Given the description of an element on the screen output the (x, y) to click on. 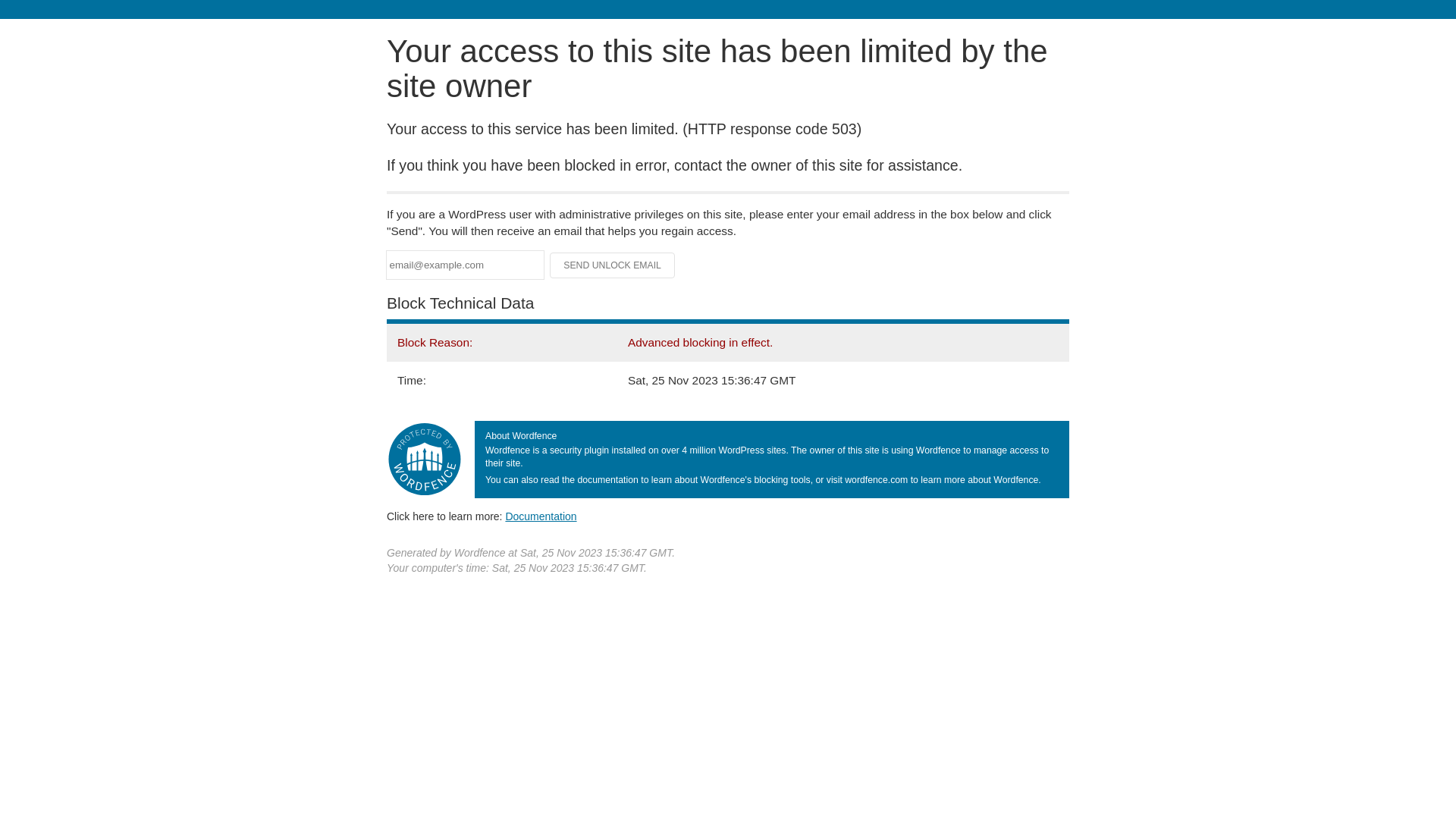
Send Unlock Email Element type: text (612, 265)
Documentation Element type: text (540, 516)
